Given the description of an element on the screen output the (x, y) to click on. 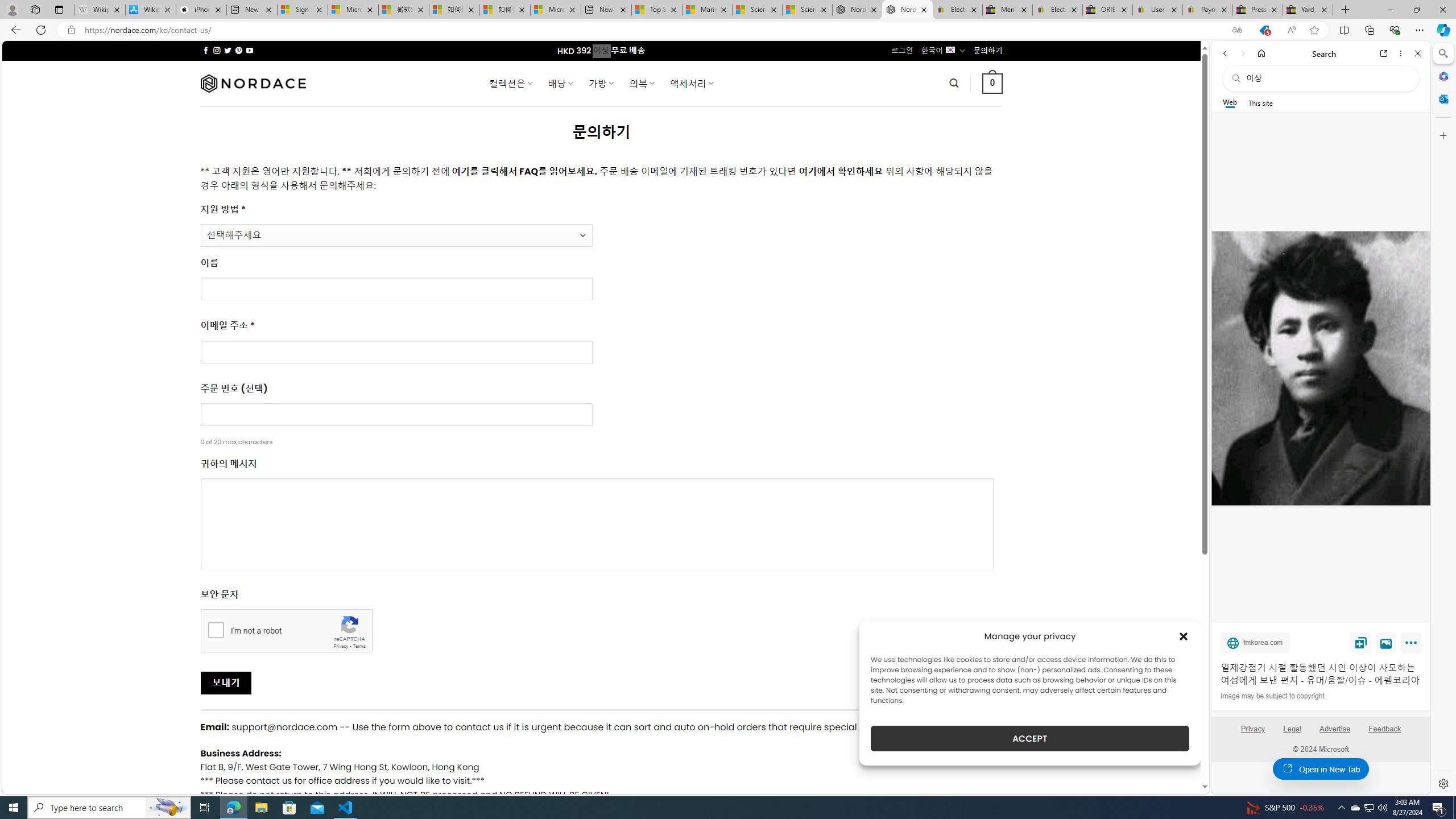
ACCEPT (1029, 738)
fmkorea.com (1255, 642)
This site scope (1259, 102)
Microsoft Services Agreement (352, 9)
Image may be subject to copyright. (1273, 696)
